Given the description of an element on the screen output the (x, y) to click on. 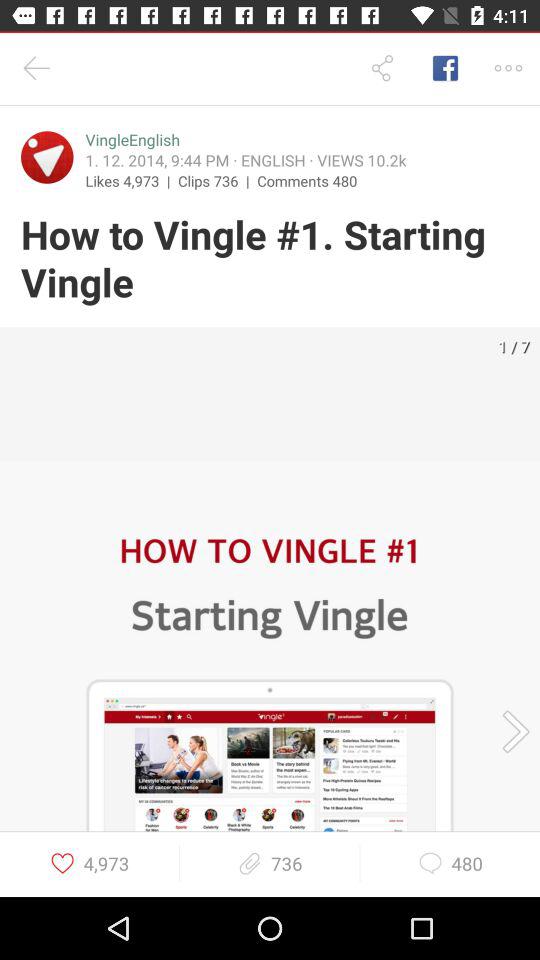
select the item next to the comments 480 (217, 180)
